Given the description of an element on the screen output the (x, y) to click on. 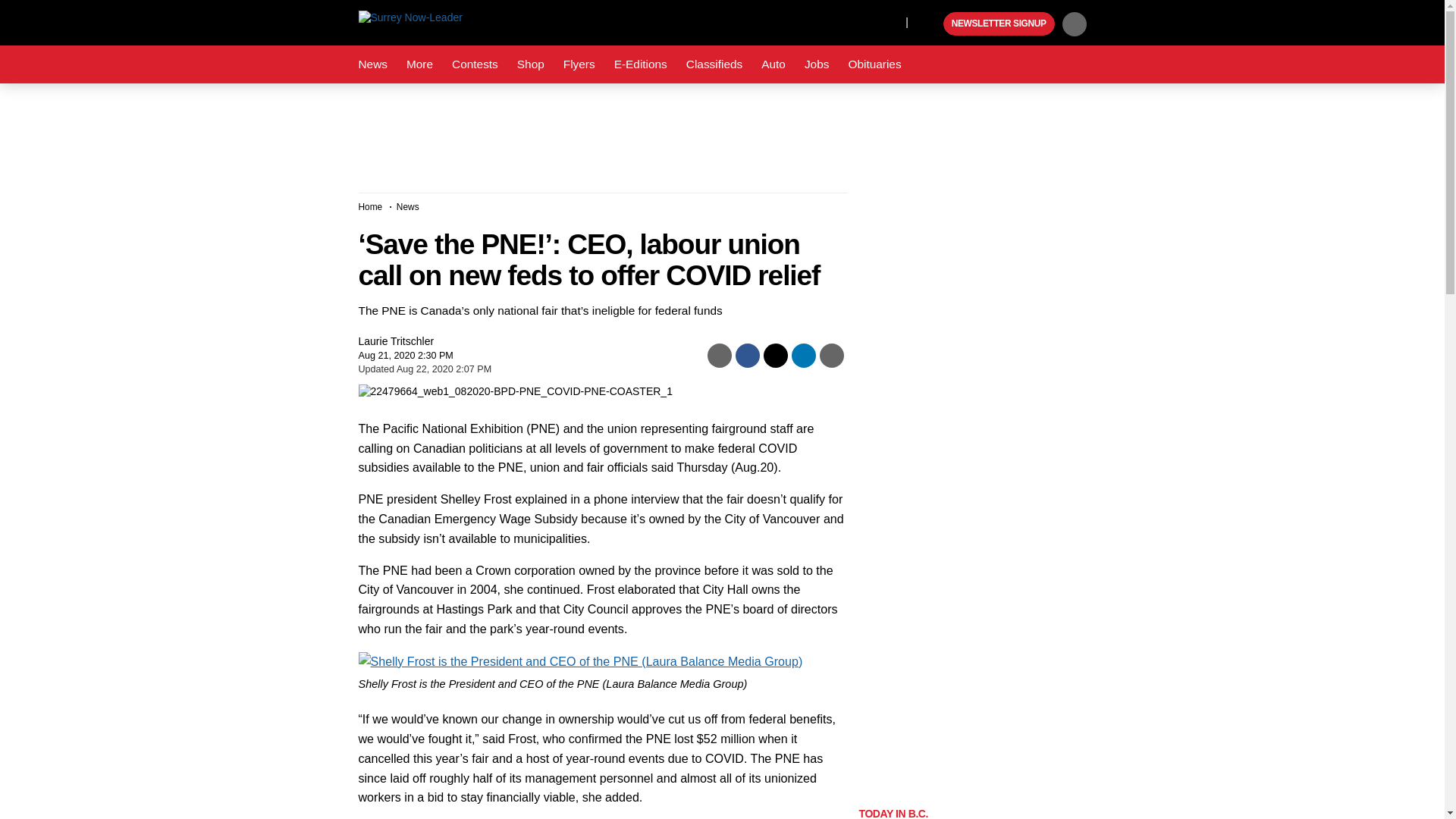
Black Press Media (929, 24)
News (372, 64)
Play (929, 24)
X (889, 21)
NEWSLETTER SIGNUP (998, 24)
